Given the description of an element on the screen output the (x, y) to click on. 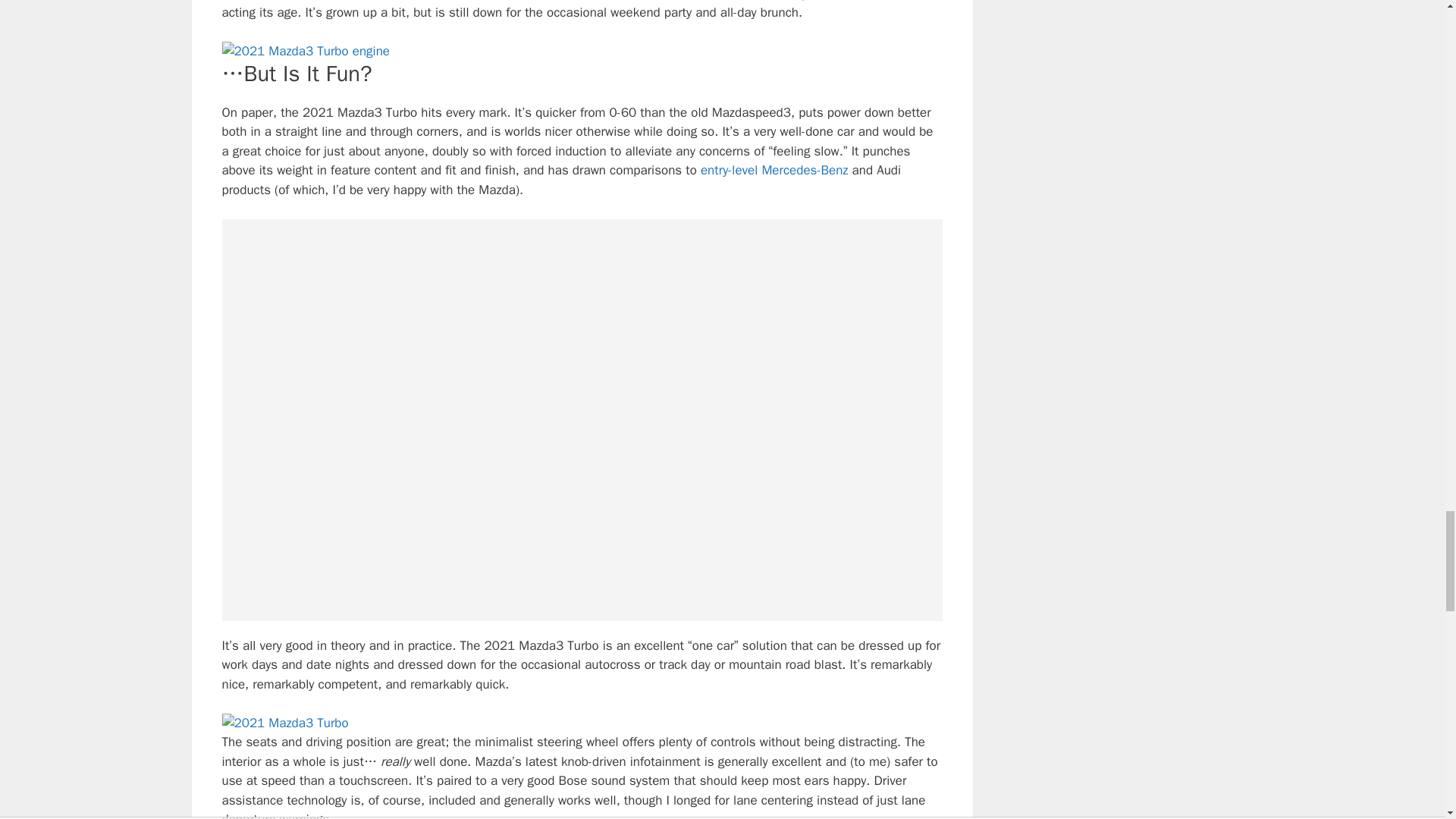
entry-level Mercedes-Benz (774, 170)
